Given the description of an element on the screen output the (x, y) to click on. 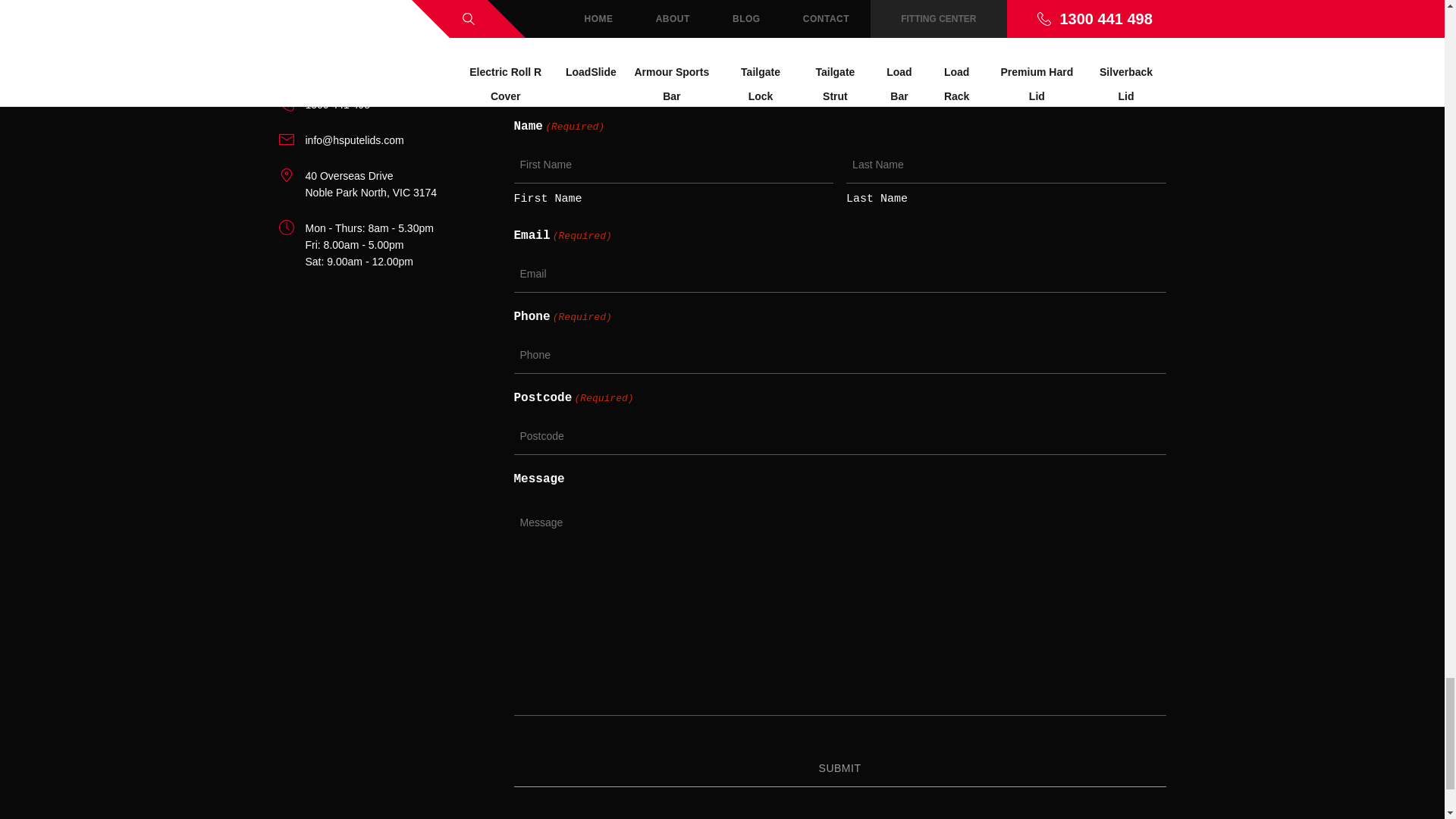
Submit (839, 768)
